Given the description of an element on the screen output the (x, y) to click on. 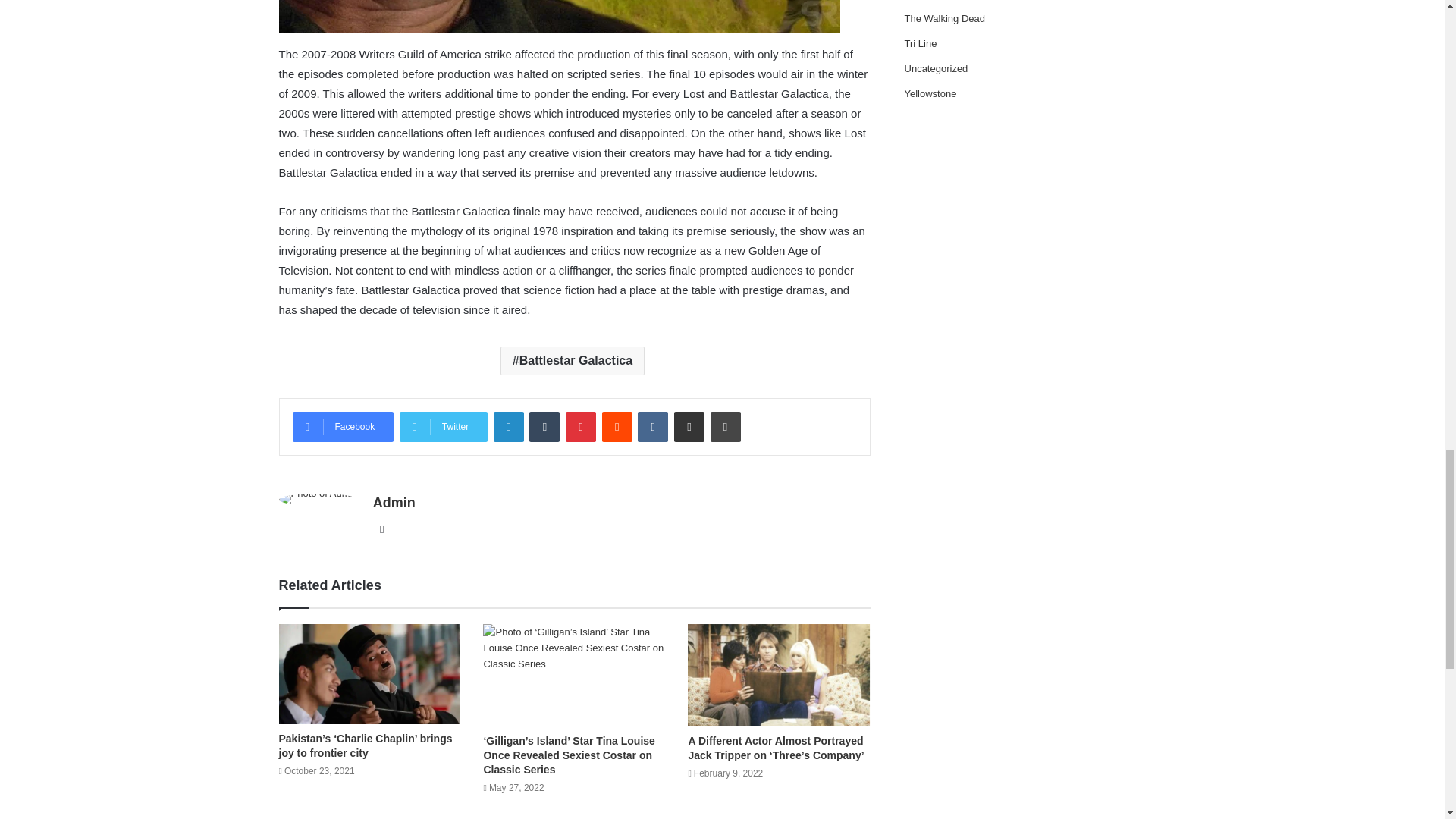
LinkedIn (508, 426)
Pinterest (580, 426)
Print (725, 426)
Tumblr (544, 426)
Facebook (343, 426)
Battlestar Galactica (572, 360)
LinkedIn (508, 426)
VKontakte (652, 426)
Reddit (616, 426)
Facebook (343, 426)
VKontakte (652, 426)
Reddit (616, 426)
Share via Email (689, 426)
Pinterest (580, 426)
Tumblr (544, 426)
